Given the description of an element on the screen output the (x, y) to click on. 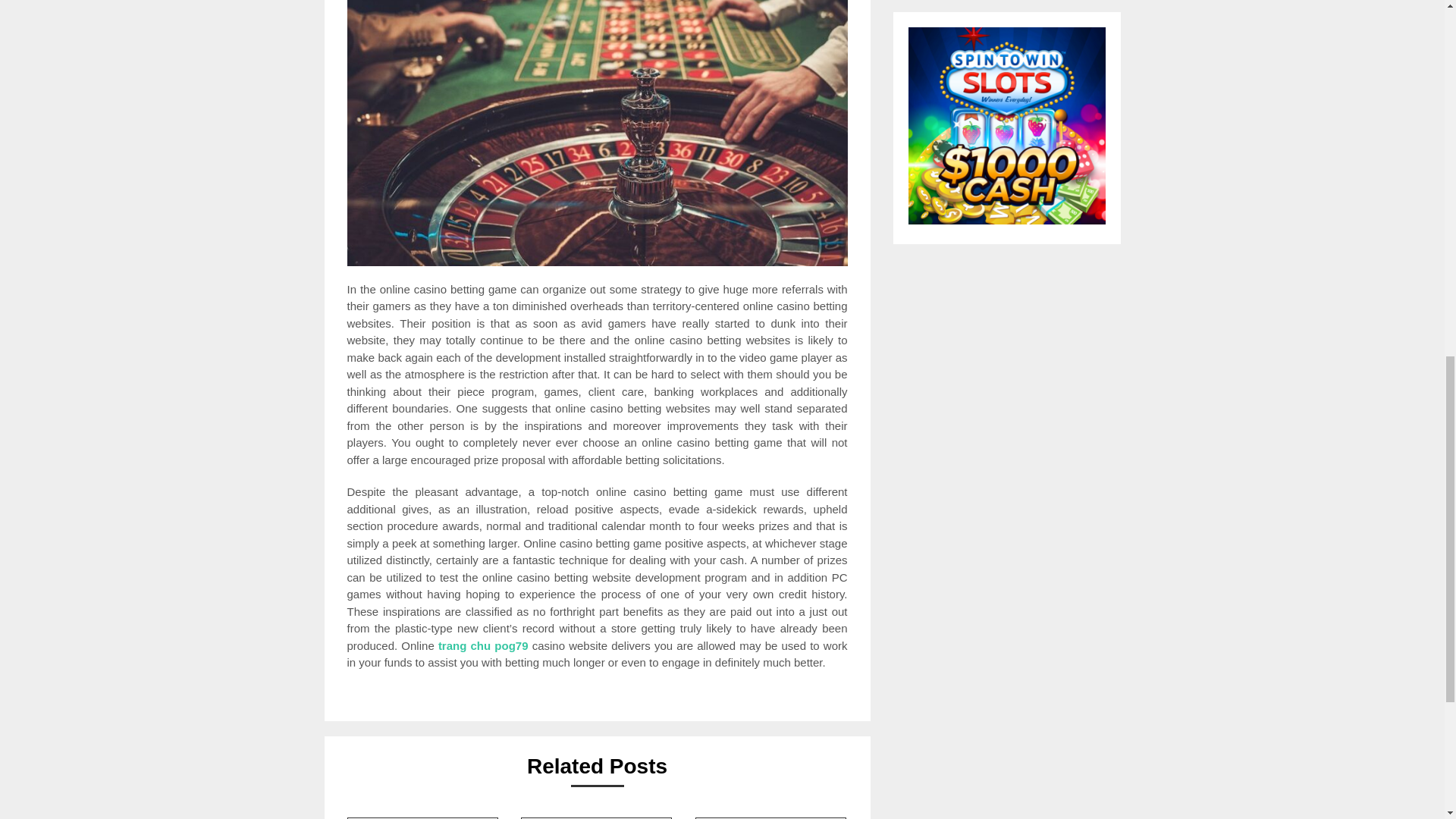
trang chu pog79 (483, 644)
